Given the description of an element on the screen output the (x, y) to click on. 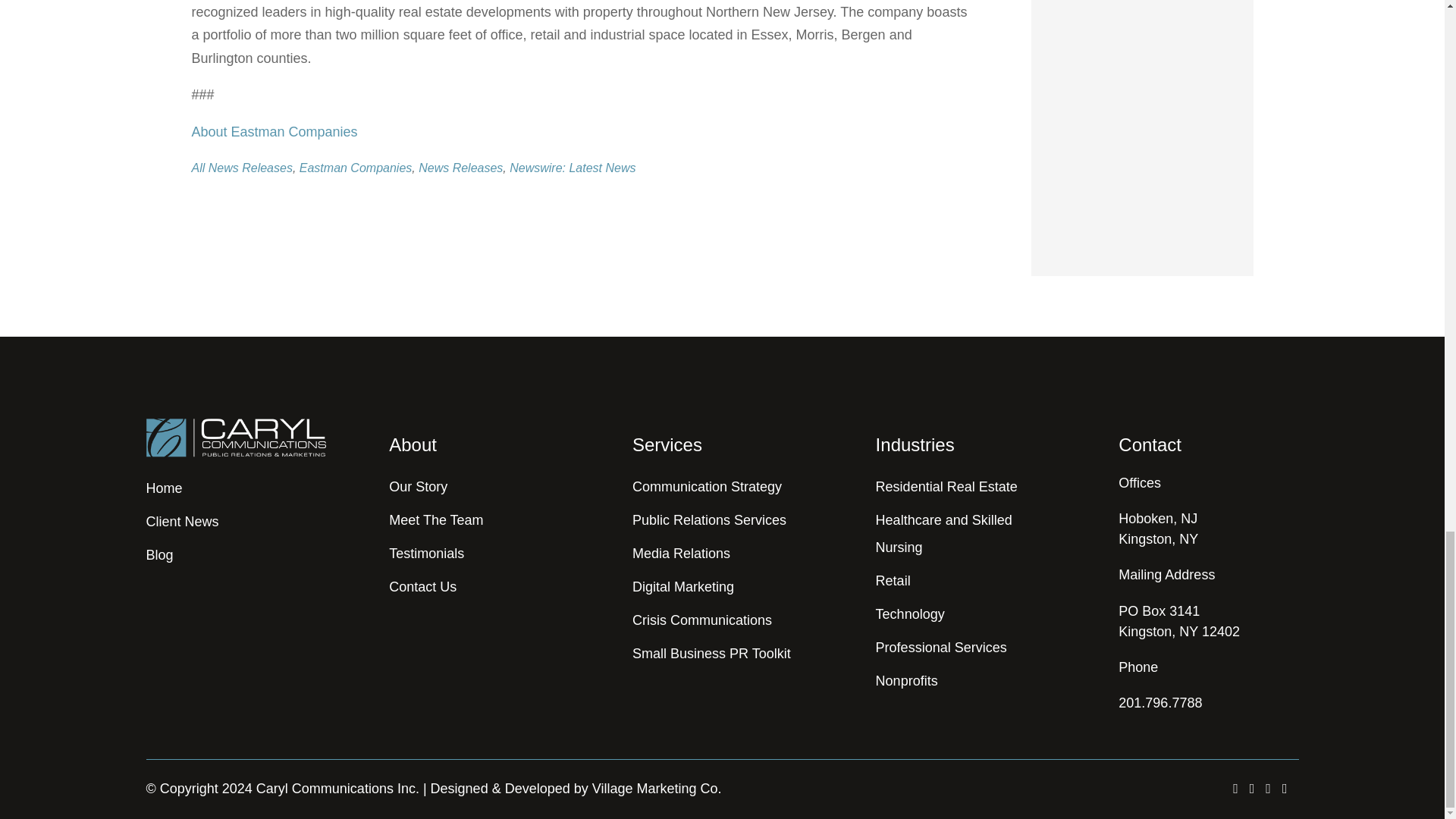
Caryl-Logo-white (234, 437)
